Given the description of an element on the screen output the (x, y) to click on. 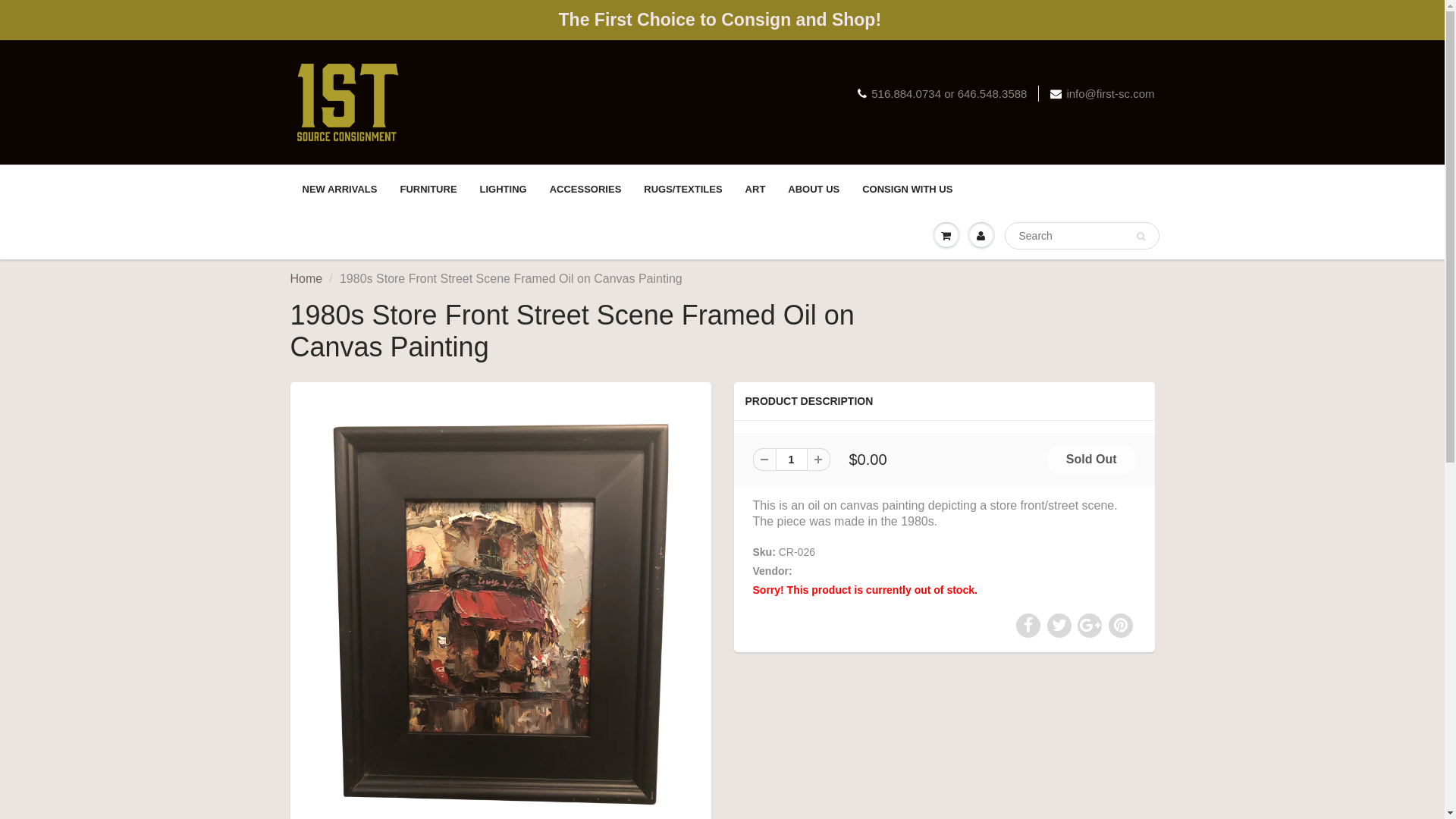
ABOUT US Element type: text (813, 189)
CONSIGN WITH US Element type: text (906, 189)
516.884.0734 or 646.548.3588 Element type: text (941, 93)
Home Element type: text (305, 278)
ACCESSORIES Element type: text (585, 189)
1st Source Consignment Element type: text (853, 570)
Sold Out Element type: text (1091, 459)
Search Element type: text (1140, 236)
LIGHTING Element type: text (503, 189)
RUGS/TEXTILES Element type: text (682, 189)
info@first-sc.com Element type: text (1102, 93)
FURNITURE Element type: text (427, 189)
NEW ARRIVALS Element type: text (340, 189)
ART Element type: text (755, 189)
